Given the description of an element on the screen output the (x, y) to click on. 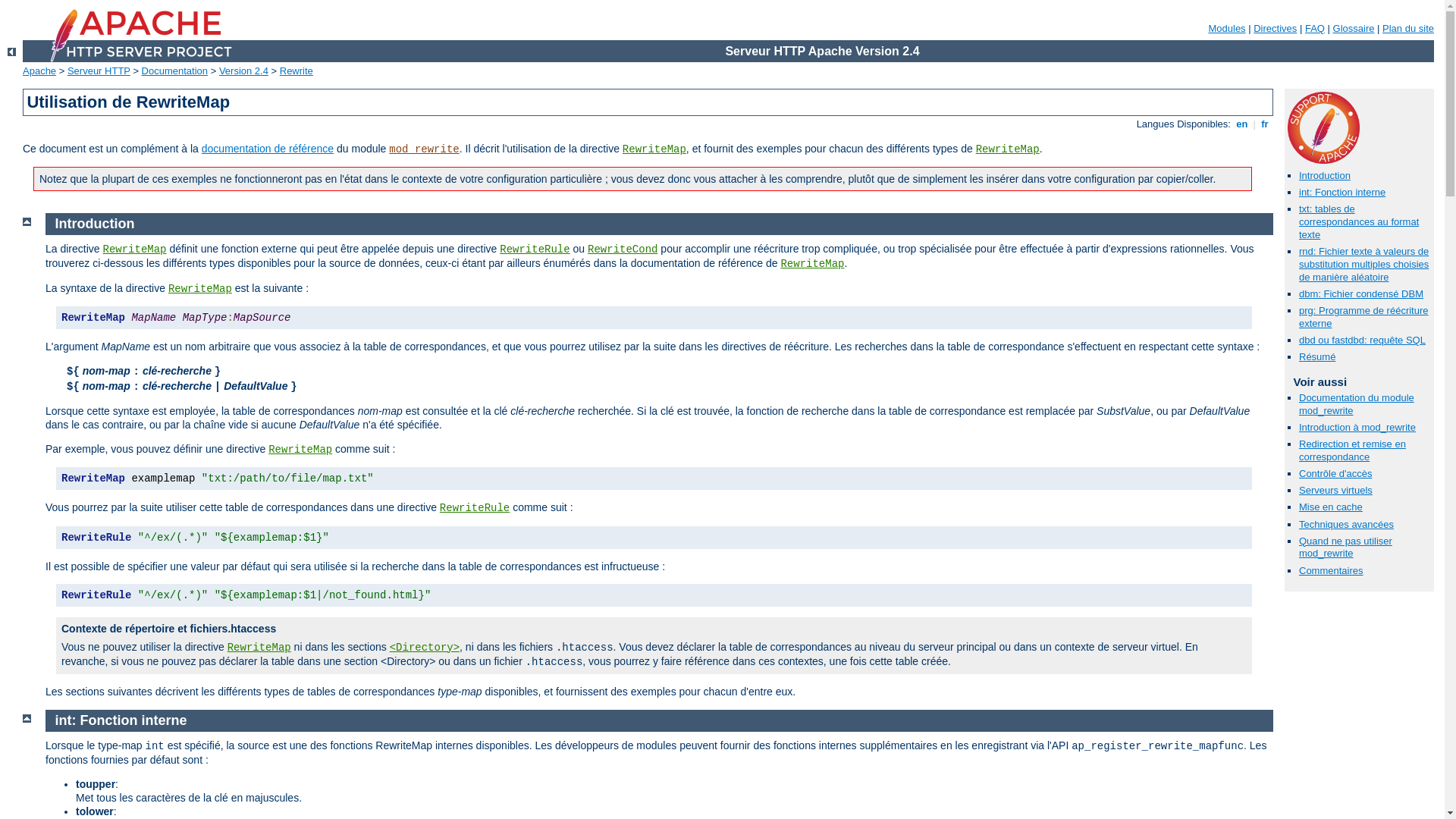
RewriteRule Element type: text (474, 508)
<Directory> Element type: text (424, 647)
mod_rewrite Element type: text (423, 149)
Version 2.4 Element type: text (243, 70)
RewriteRule Element type: text (534, 249)
Redirection et remise en correspondance Element type: text (1352, 450)
RewriteMap Element type: text (259, 647)
RewriteMap Element type: text (300, 449)
Documentation Element type: text (174, 70)
MapName Element type: text (125, 346)
Serveurs virtuels Element type: text (1335, 489)
RewriteMap Element type: text (134, 249)
 fr  Element type: text (1264, 123)
Introduction Element type: text (1324, 175)
FAQ Element type: text (1314, 28)
Apache Element type: text (39, 70)
Rewrite Element type: text (296, 70)
Documentation du module mod_rewrite Element type: text (1356, 404)
Glossaire Element type: text (1353, 28)
Mise en cache Element type: text (1330, 506)
txt: tables de correspondances au format texte Element type: text (1358, 221)
Modules Element type: text (1226, 28)
Directives Element type: text (1274, 28)
RewriteMap Element type: text (1007, 149)
int: Fonction interne Element type: text (121, 720)
 en  Element type: text (1241, 123)
Serveur HTTP Element type: text (98, 70)
<- Element type: hover (11, 51)
int: Fonction interne Element type: text (1342, 191)
RewriteMap Element type: text (654, 149)
Commentaires Element type: text (1331, 570)
RewriteCond Element type: text (622, 249)
Introduction Element type: text (94, 223)
RewriteMap Element type: text (200, 288)
RewriteMap Element type: text (812, 263)
Quand ne pas utiliser mod_rewrite Element type: text (1345, 547)
Plan du site Element type: text (1408, 28)
